Given the description of an element on the screen output the (x, y) to click on. 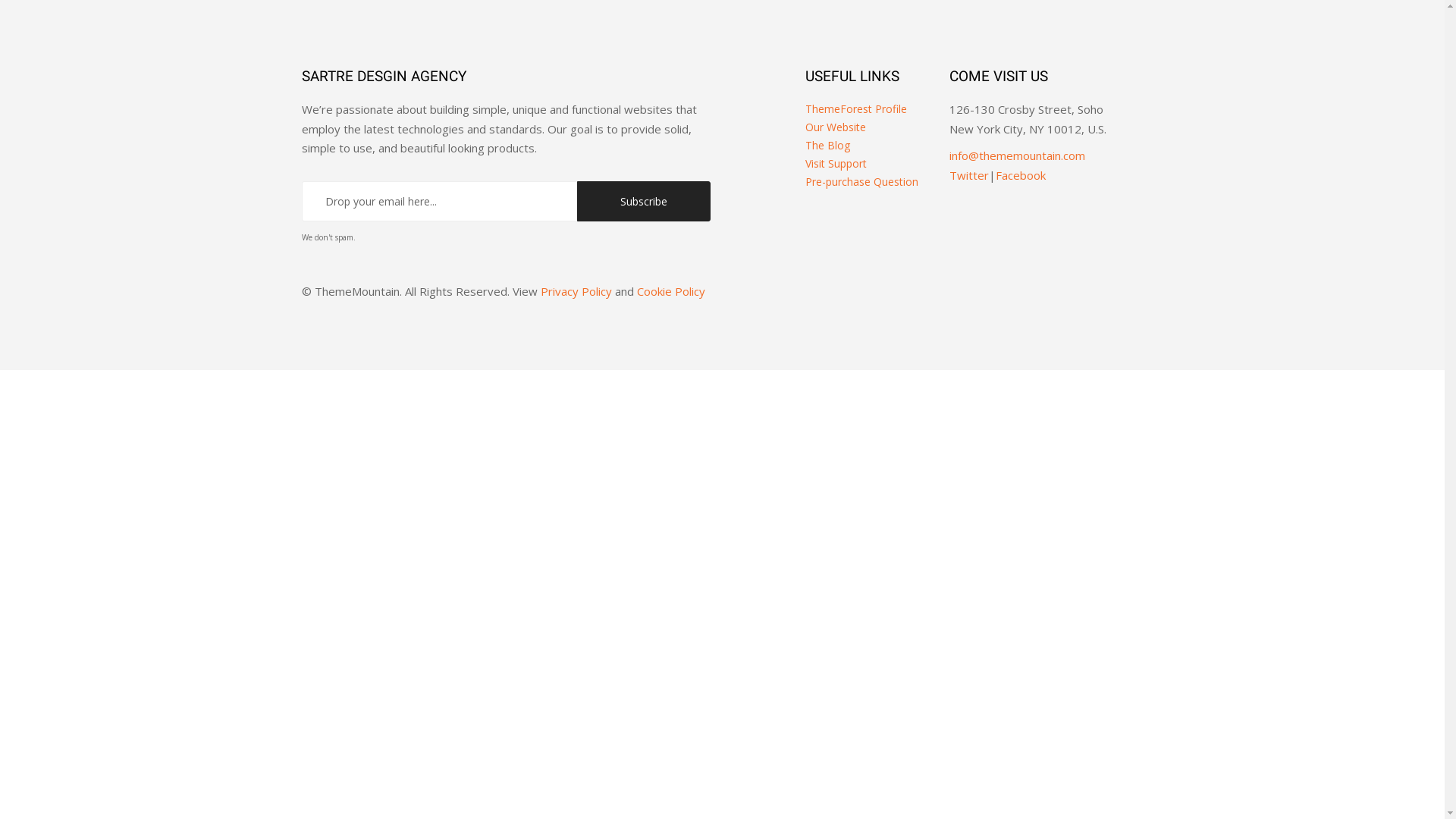
Subscribe Element type: text (644, 201)
Visit Support Element type: text (835, 163)
ThemeForest Profile Element type: text (855, 108)
Privacy Policy Element type: text (575, 290)
Facebook Element type: text (1020, 174)
Twitter Element type: text (968, 174)
info@thememountain.com Element type: text (1017, 155)
The Blog Element type: text (827, 145)
Pre-purchase Question Element type: text (861, 181)
Our Website Element type: text (835, 126)
Cookie Policy Element type: text (671, 290)
